Given the description of an element on the screen output the (x, y) to click on. 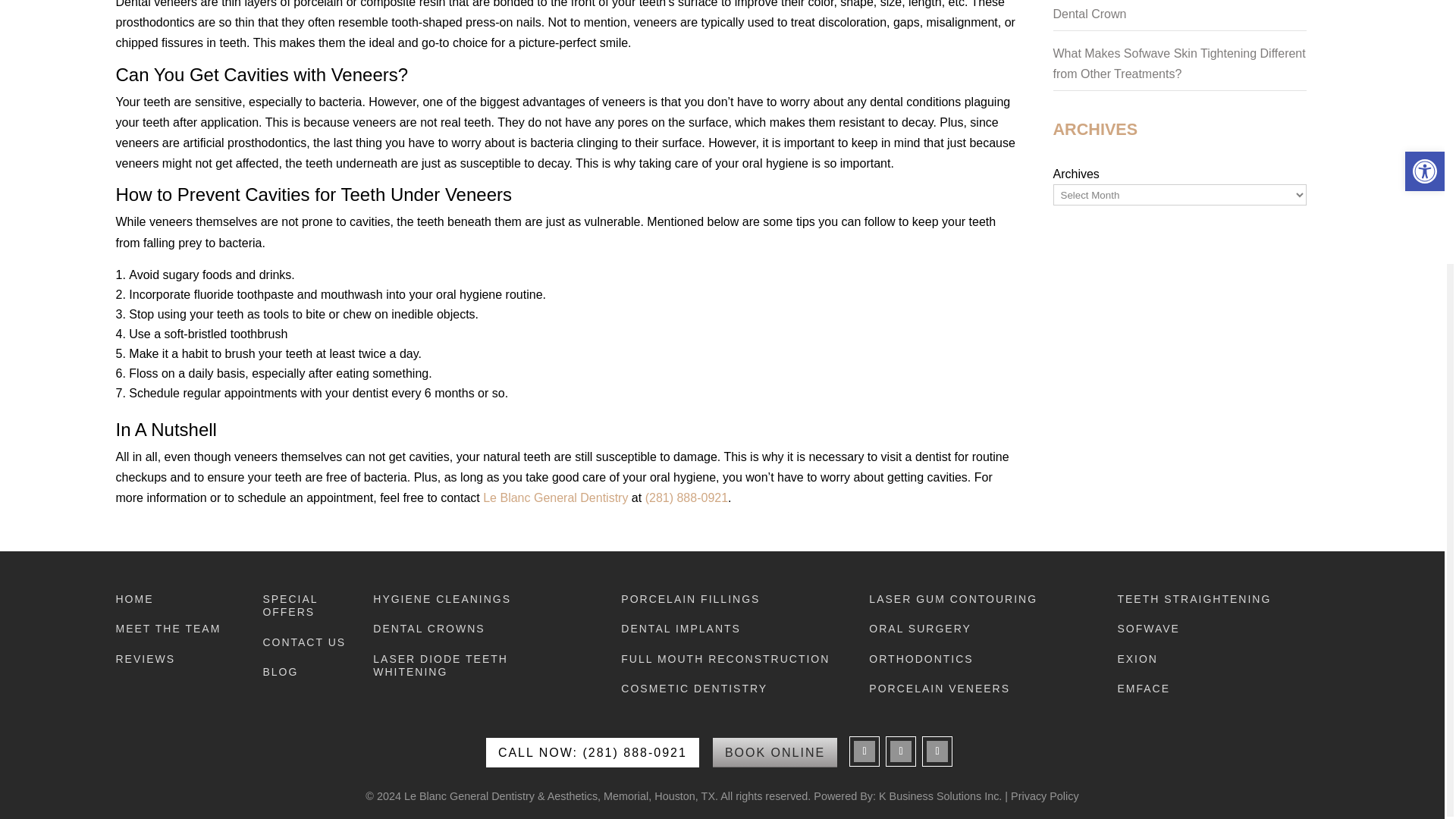
Follow on Instagram (900, 751)
MEET THE TEAM (170, 632)
Le Blanc General Dentistry (555, 497)
Follow on Yelp (936, 751)
Follow on Facebook (864, 751)
HOME (170, 602)
Step-by-Step Guide to Getting a Front Tooth Dental Crown (1171, 9)
